Given the description of an element on the screen output the (x, y) to click on. 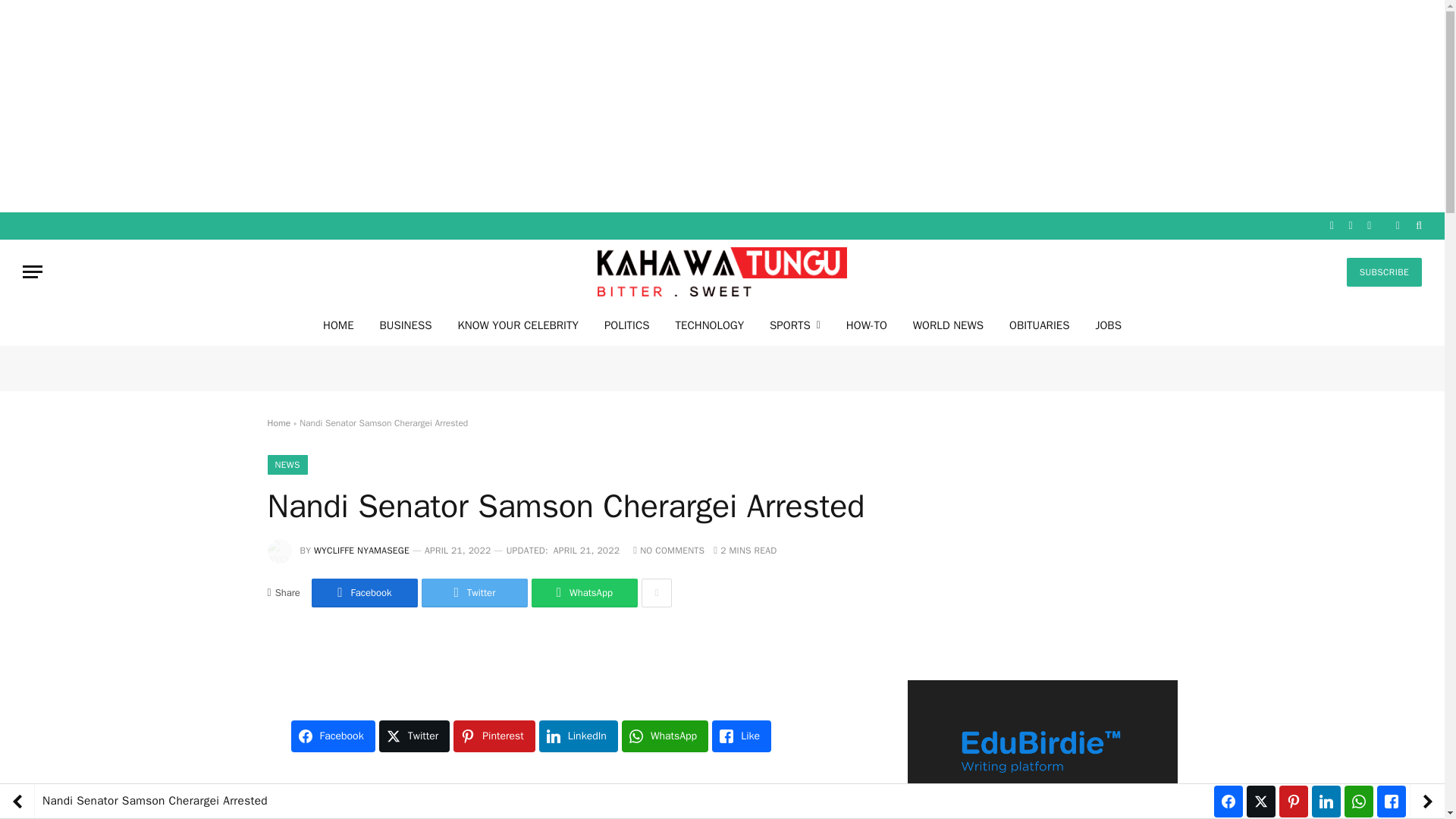
Home (277, 422)
KNOW YOUR CELEBRITY (517, 324)
POLITICS (626, 324)
Facebook (364, 592)
Posts by Wycliffe Nyamasege (361, 550)
OBITUARIES (1038, 324)
Share on Facebook (364, 592)
Switch to Dark Design - easier on eyes. (1397, 225)
Share on WhatsApp (584, 592)
Twitter (474, 592)
